Given the description of an element on the screen output the (x, y) to click on. 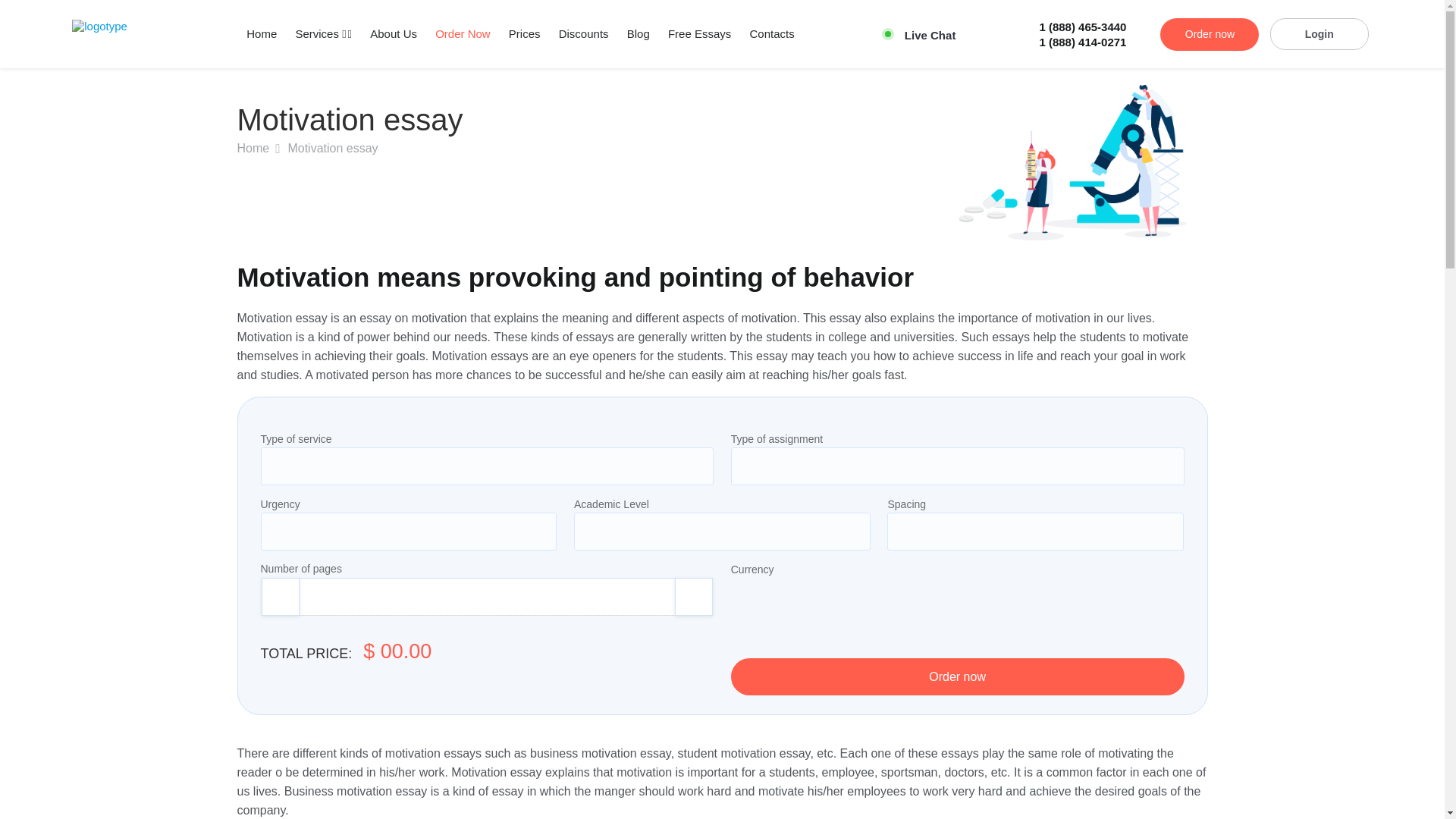
Plus (694, 596)
Go to EssaysLab.com. (252, 147)
Live Chat (1401, 707)
Answer Questions (814, 140)
Discussion Post Board (814, 186)
Interview (814, 254)
Revision (814, 163)
Essay (814, 118)
Order now (1209, 34)
Minus (279, 596)
Article Critique (814, 231)
Results (814, 209)
Home (260, 33)
Login (1318, 33)
